Given the description of an element on the screen output the (x, y) to click on. 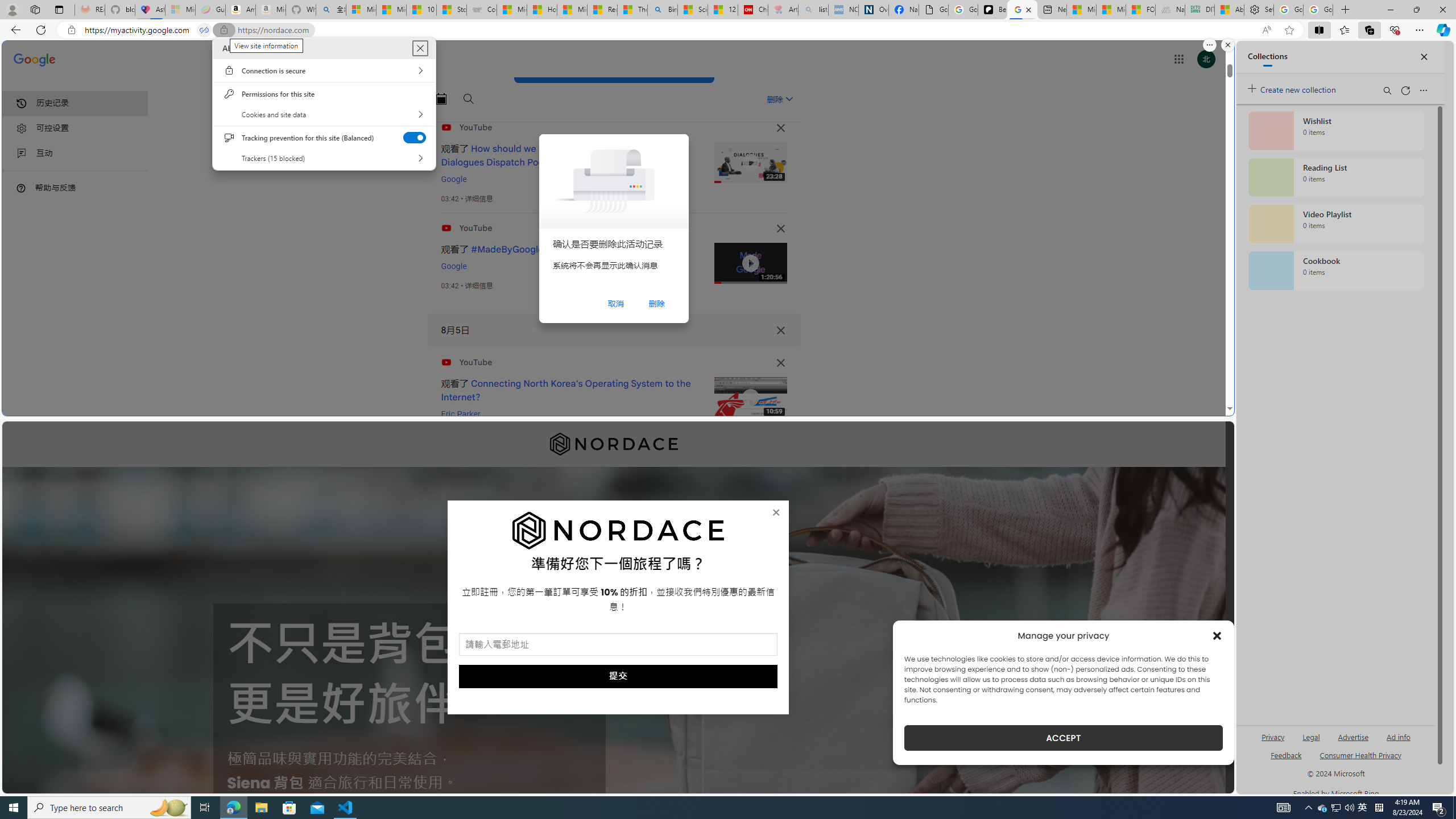
More options. (1209, 45)
Class: IVR0f NMm5M (750, 397)
Microsoft account | Privacy (360, 9)
DITOGAMES AG Imprint (1200, 9)
Stocks - MSN (450, 9)
Workspaces (34, 9)
Restore (1416, 9)
NCL Adult Asthma Inhaler Choice Guideline - Sleeping (843, 9)
Minimize (1390, 9)
Running applications (700, 807)
Settings (1322, 807)
